Given the description of an element on the screen output the (x, y) to click on. 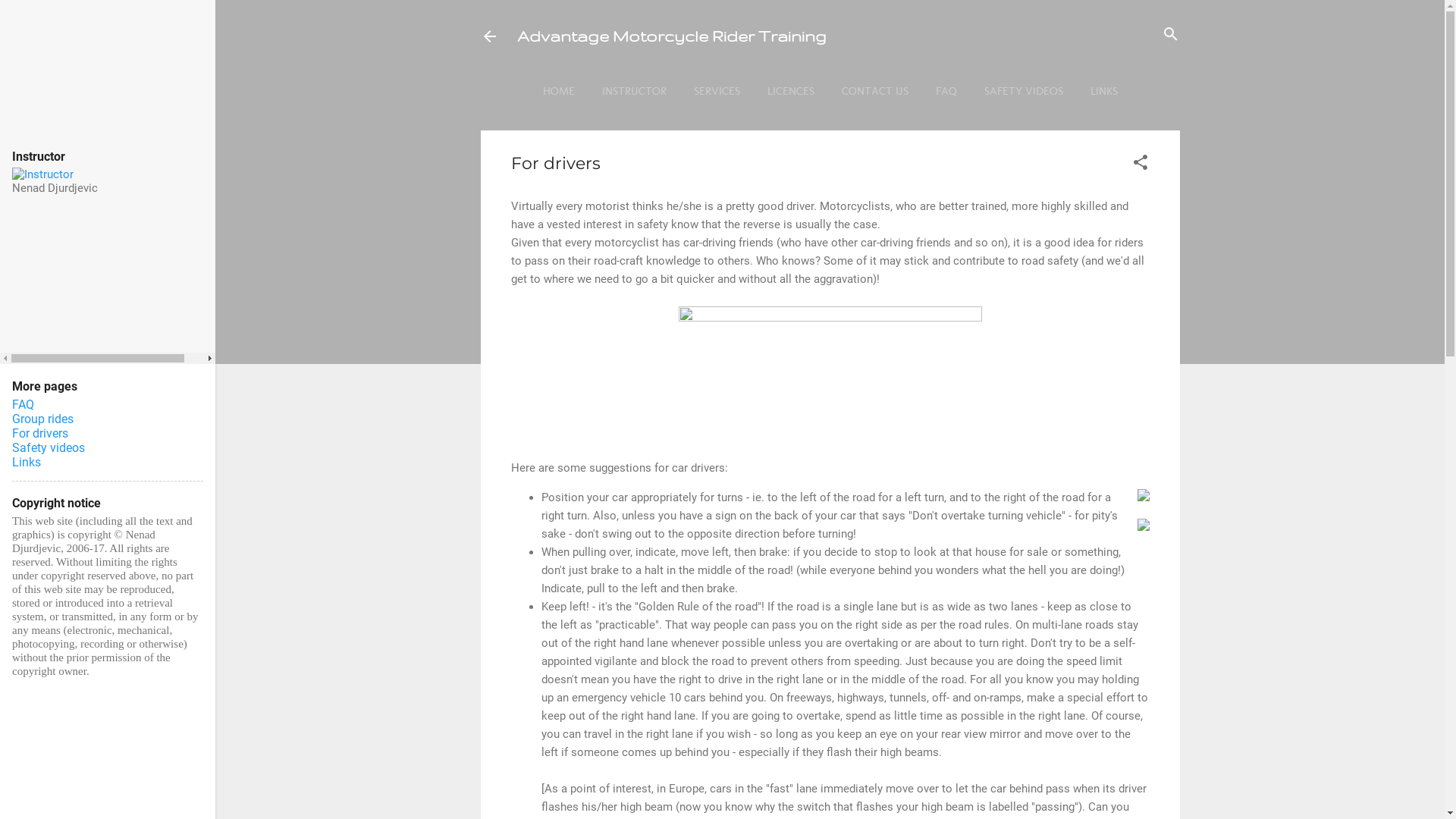
INSTRUCTOR Element type: text (634, 90)
FOR DRIVERS Element type: text (782, 122)
SAFETY VIDEOS Element type: text (1023, 90)
Search Element type: text (27, 18)
LINKS Element type: text (1103, 90)
SERVICES Element type: text (716, 90)
FAQ Element type: text (23, 404)
Advantage Motorcycle Rider Training Element type: text (671, 35)
GROUP RIDES Element type: text (875, 122)
Safety videos Element type: text (48, 447)
For drivers Element type: text (40, 433)
Links Element type: text (26, 462)
HOME Element type: text (558, 90)
FAQ Element type: text (946, 90)
Group rides Element type: text (42, 418)
LICENCES Element type: text (790, 90)
CONTACT US Element type: text (874, 90)
